Given the description of an element on the screen output the (x, y) to click on. 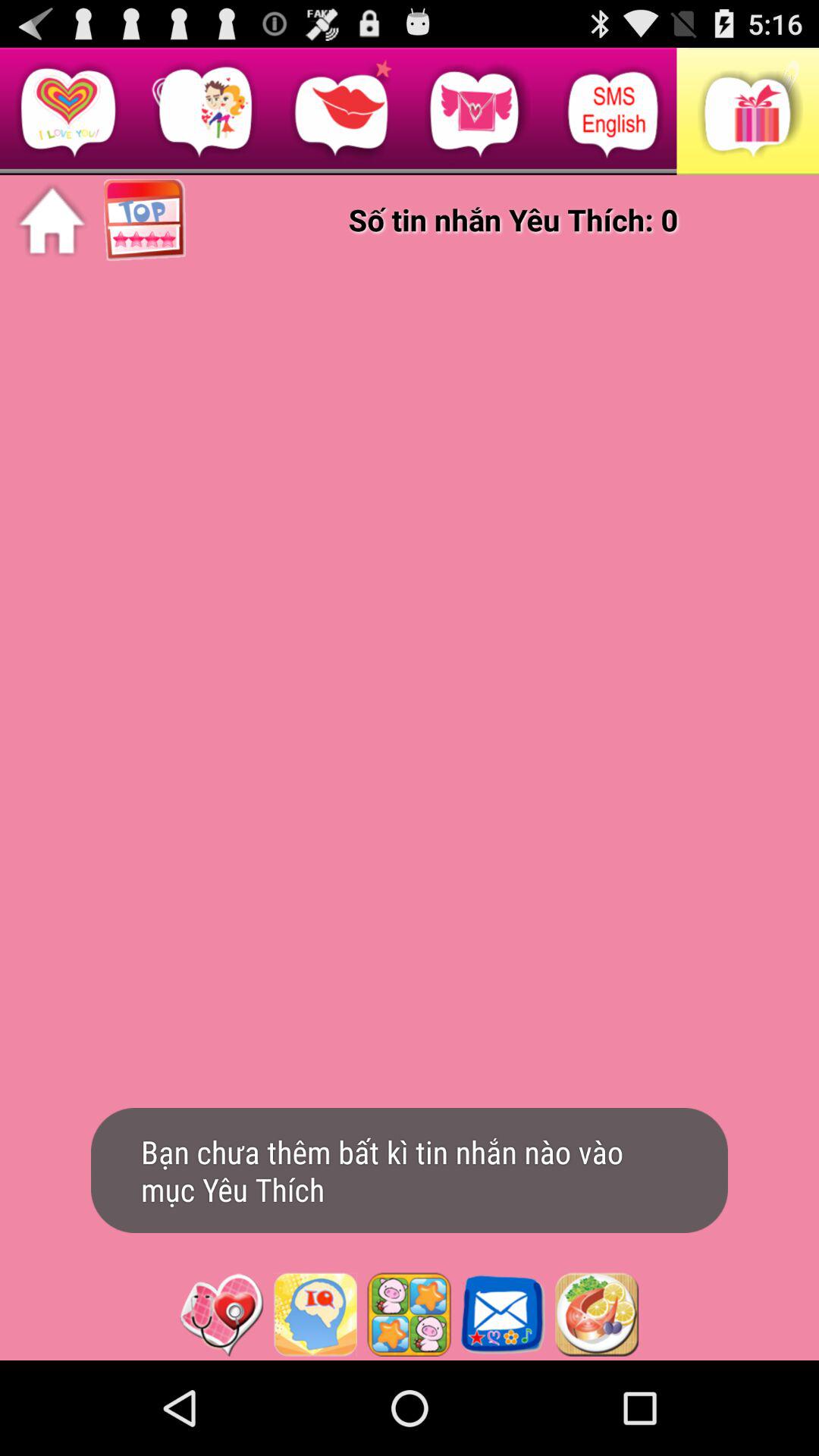
open new app (315, 1314)
